Given the description of an element on the screen output the (x, y) to click on. 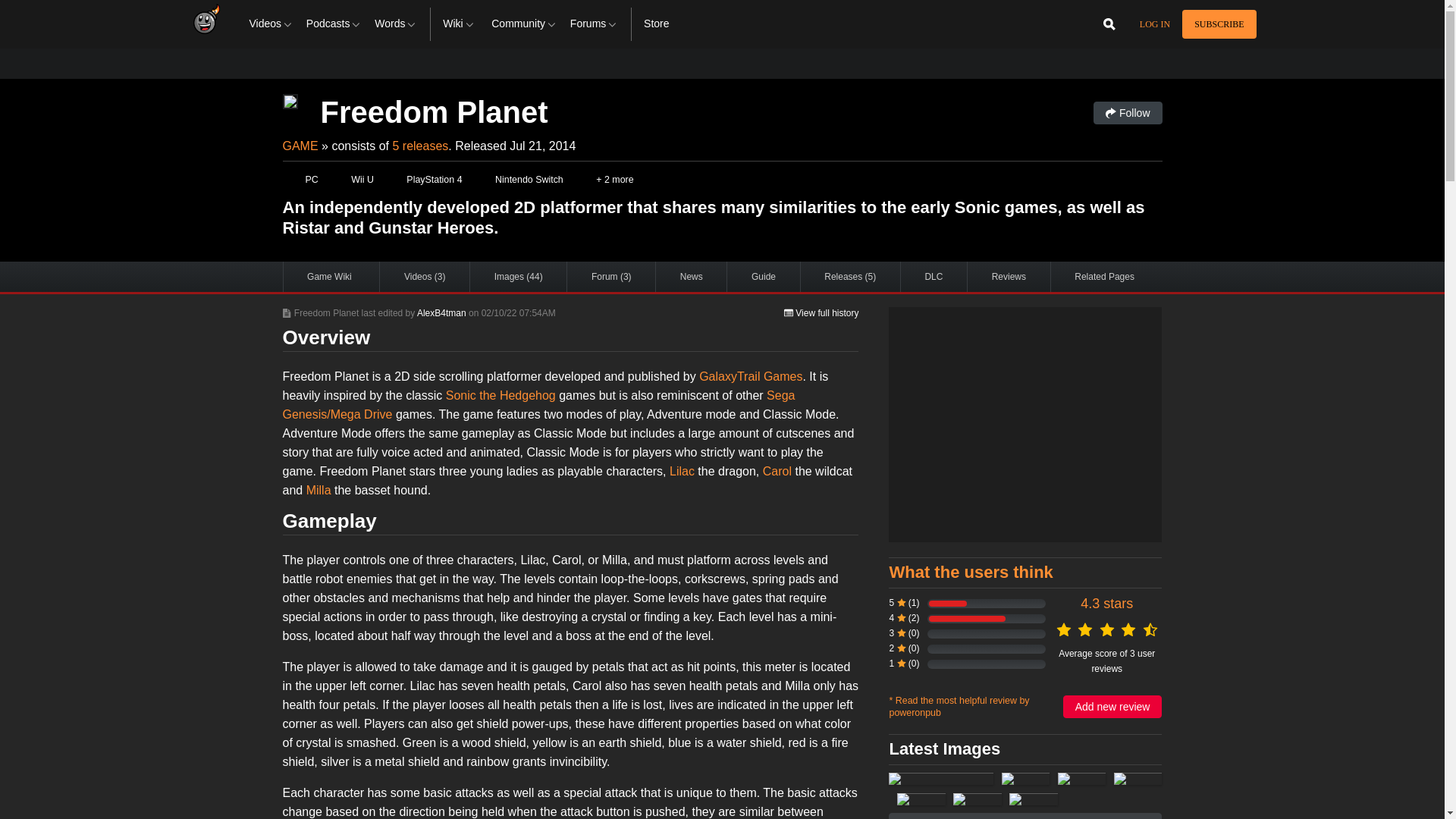
Words (395, 24)
Videos (271, 24)
Podcasts (333, 24)
